Given the description of an element on the screen output the (x, y) to click on. 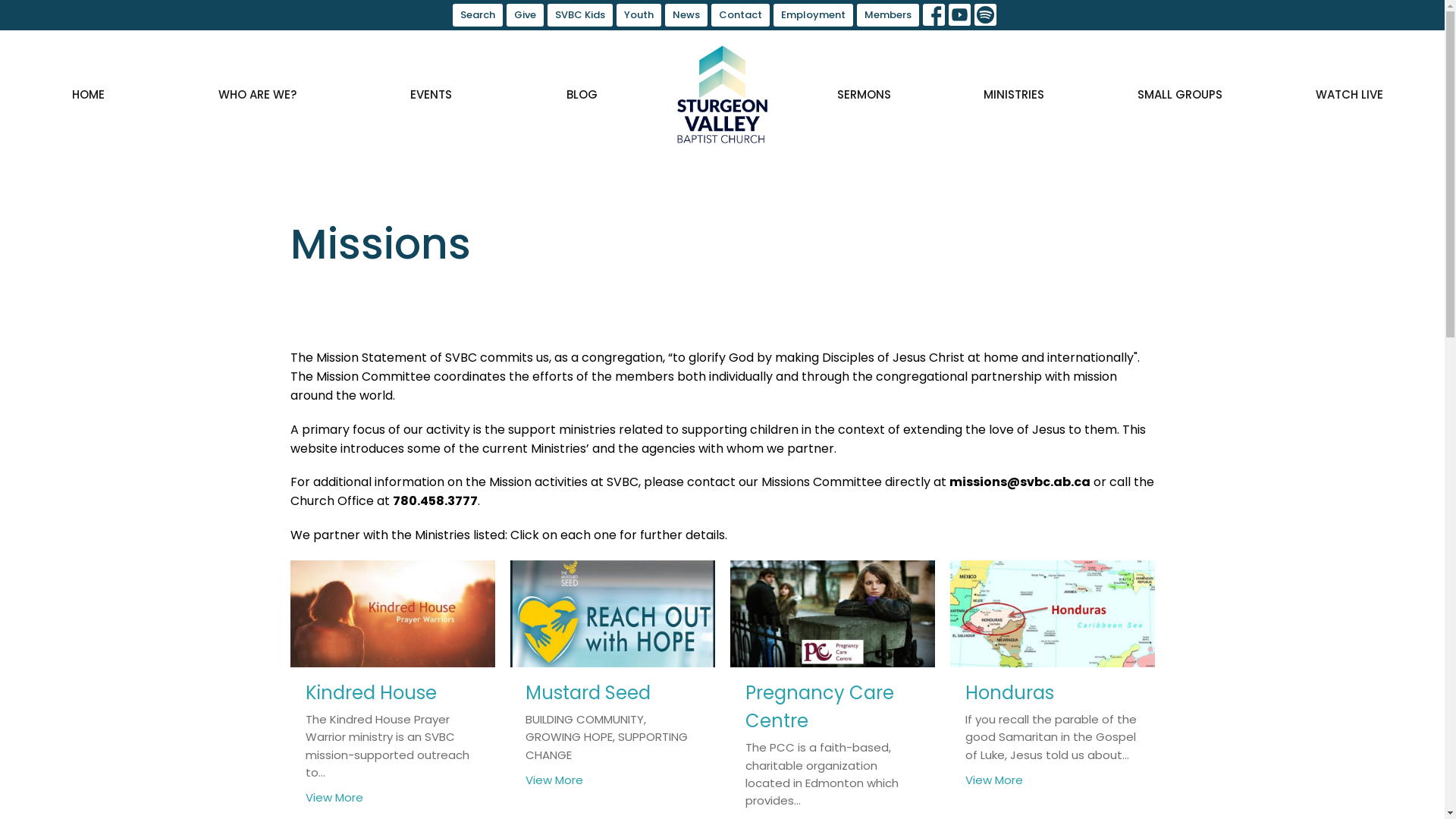
News Element type: text (685, 14)
WHO ARE WE? Element type: text (257, 93)
EVENTS Element type: text (430, 93)
WATCH LIVE Element type: text (1349, 93)
MINISTRIES Element type: text (1013, 93)
Search Element type: text (476, 14)
HOME Element type: text (88, 93)
Youth Element type: text (637, 14)
SMALL GROUPS Element type: text (1179, 93)
Members Element type: text (887, 14)
Employment Element type: text (813, 14)
SVBC Kids Element type: text (579, 14)
BLOG Element type: text (581, 93)
SERMONS Element type: text (864, 93)
Contact Element type: text (740, 14)
Give Element type: text (524, 14)
